Given the description of an element on the screen output the (x, y) to click on. 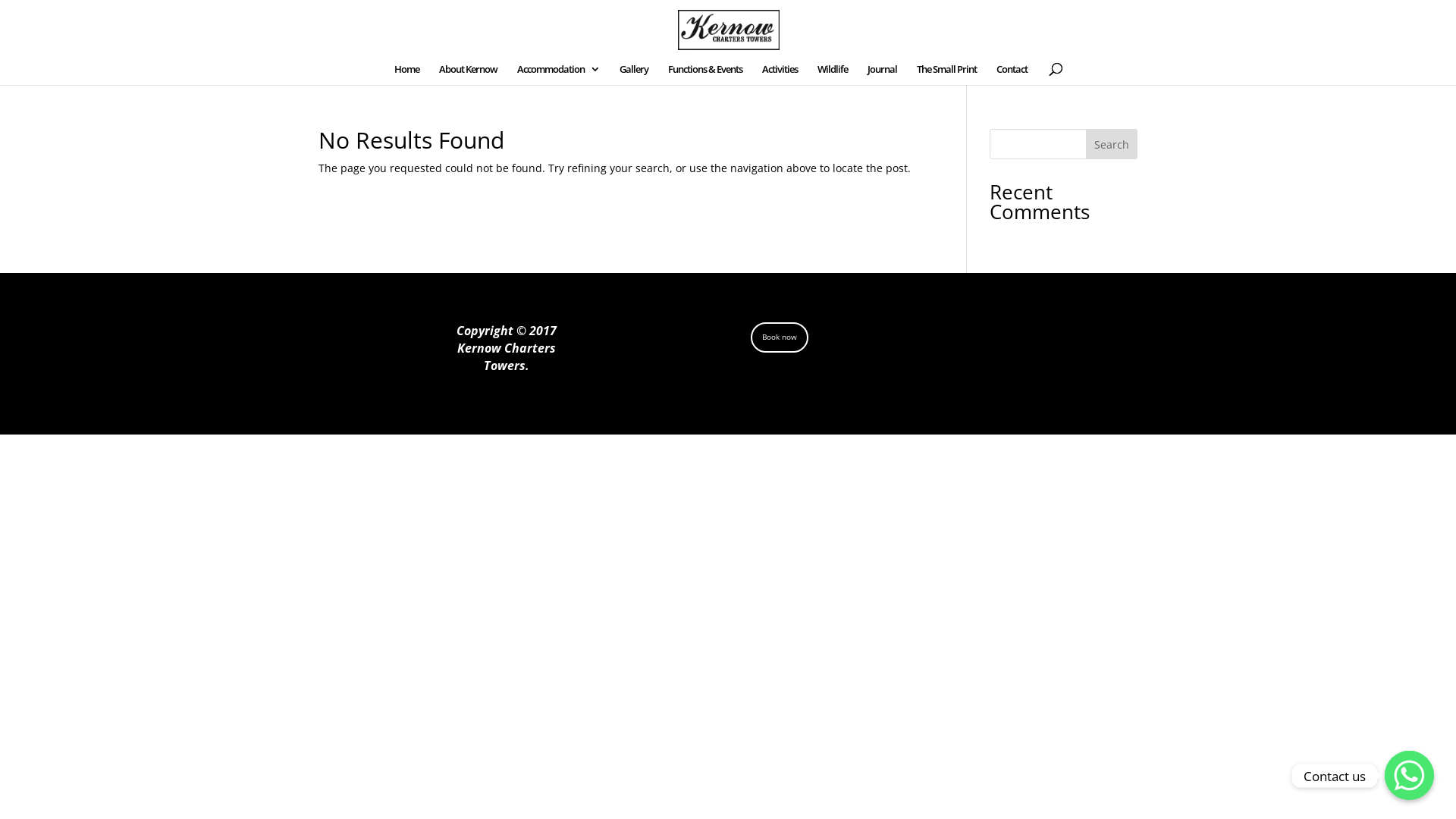
Wildlife Element type: text (832, 73)
Contact Element type: text (1011, 73)
Book now Element type: text (779, 337)
The Small Print Element type: text (945, 73)
Accommodation Element type: text (558, 73)
Search Element type: text (1111, 143)
Functions & Events Element type: text (704, 73)
Contact us Element type: text (1409, 775)
Gallery Element type: text (632, 73)
Activities Element type: text (779, 73)
Home Element type: text (406, 73)
Journal Element type: text (882, 73)
About Kernow Element type: text (467, 73)
